Given the description of an element on the screen output the (x, y) to click on. 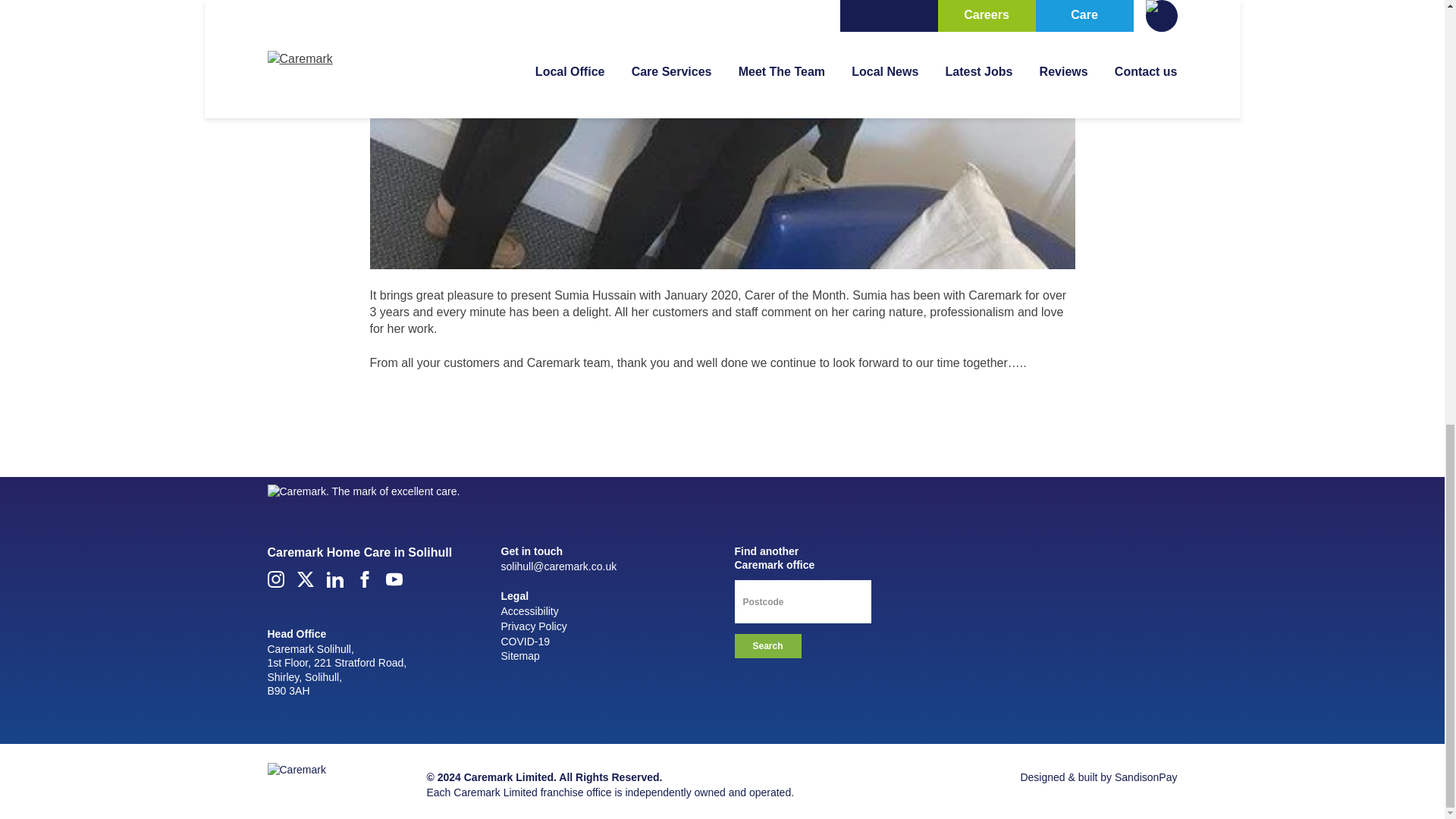
Accessibility (528, 611)
Privacy Policy (533, 625)
LinkedIn (334, 579)
Facebook (364, 579)
COVID-19 (525, 641)
Twitter-X (305, 579)
Instagram (274, 579)
Search (766, 645)
Search (766, 645)
YouTube (393, 579)
